Given the description of an element on the screen output the (x, y) to click on. 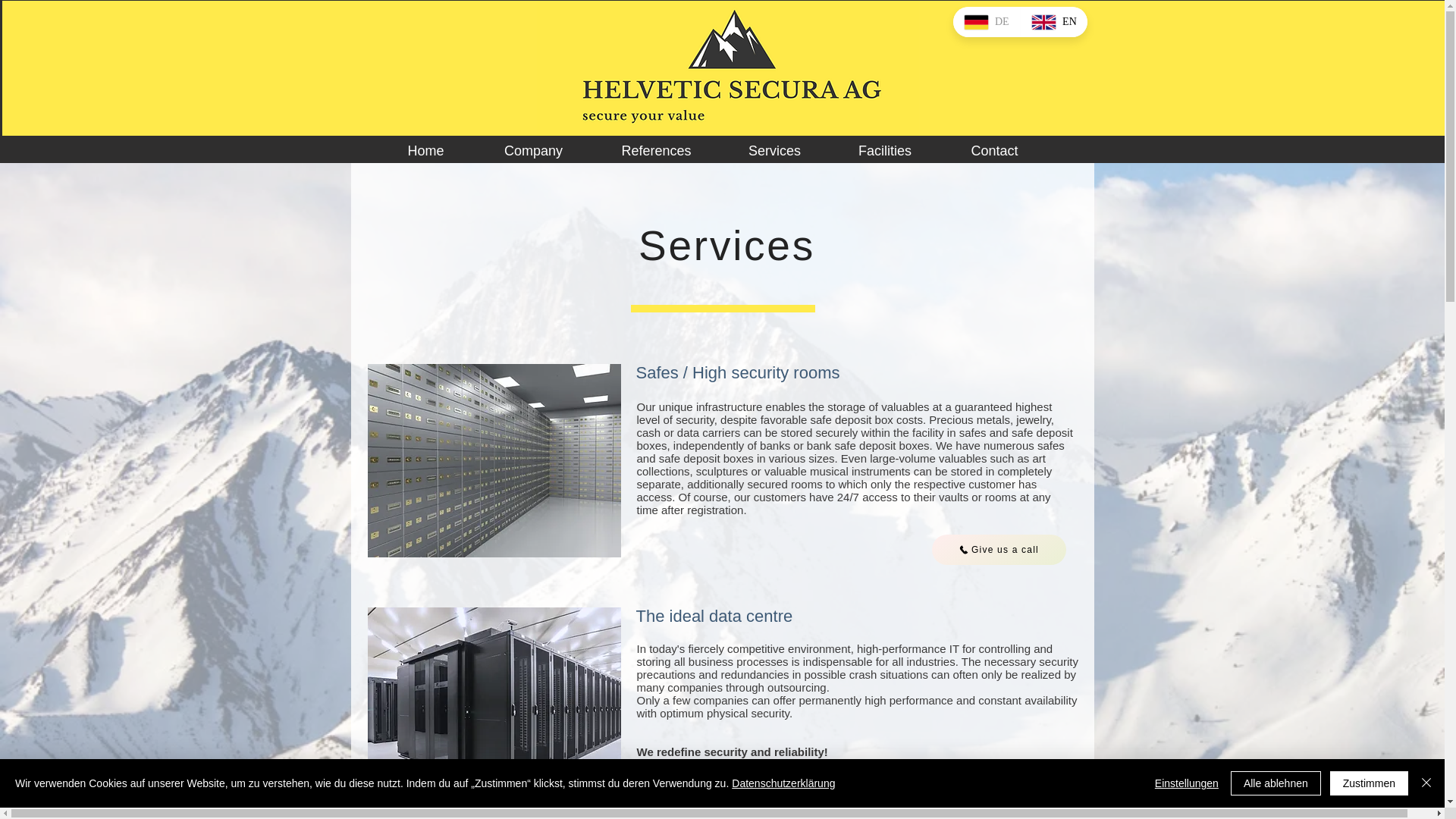
Company (533, 150)
Home (425, 150)
EN (1053, 21)
Give us a call (998, 549)
Alle ablehnen (1275, 783)
Facilities (884, 150)
Contact (994, 150)
DE (985, 21)
Zustimmen (1368, 783)
References (656, 150)
